Given the description of an element on the screen output the (x, y) to click on. 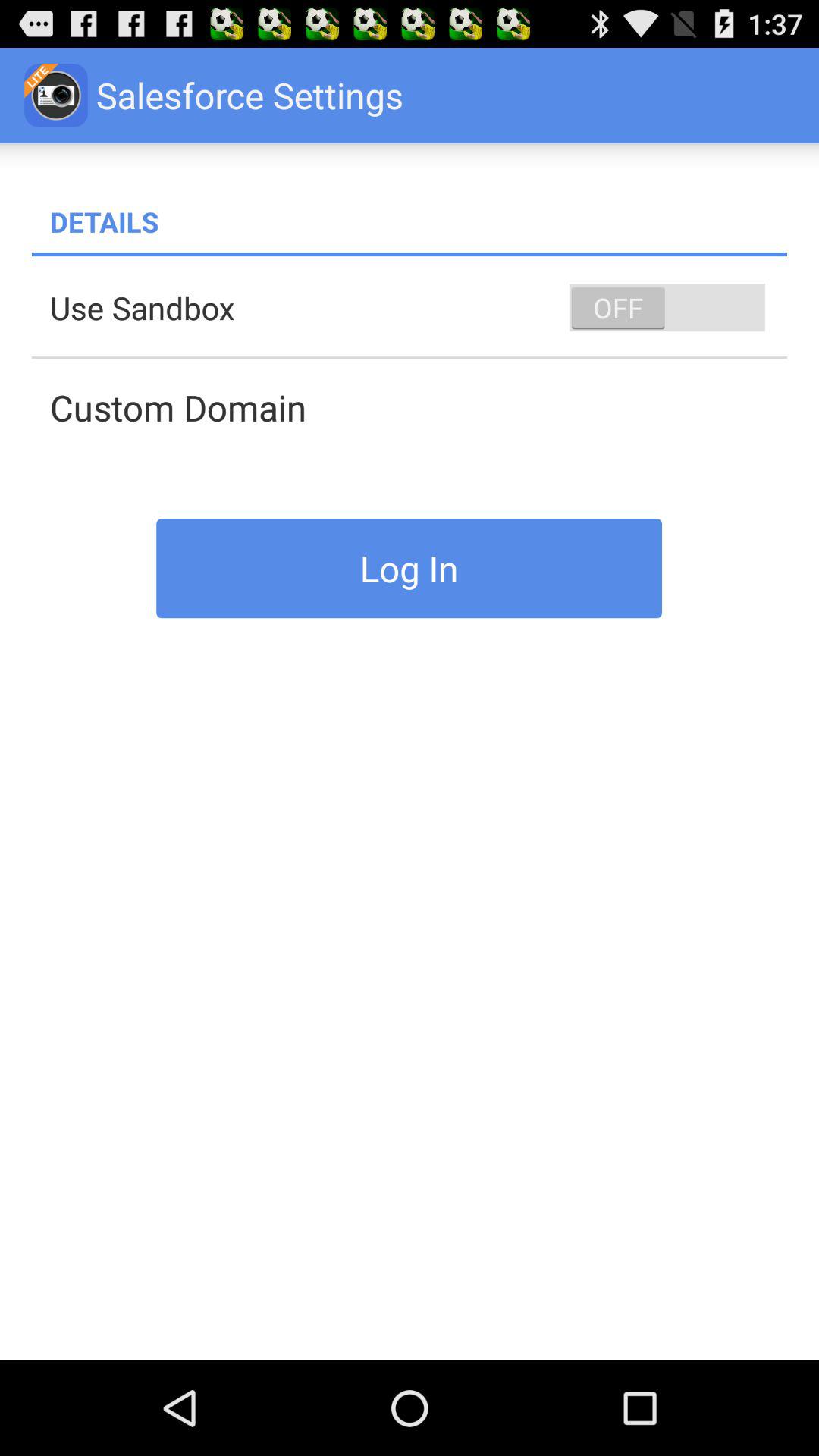
open the item at the center (409, 568)
